Given the description of an element on the screen output the (x, y) to click on. 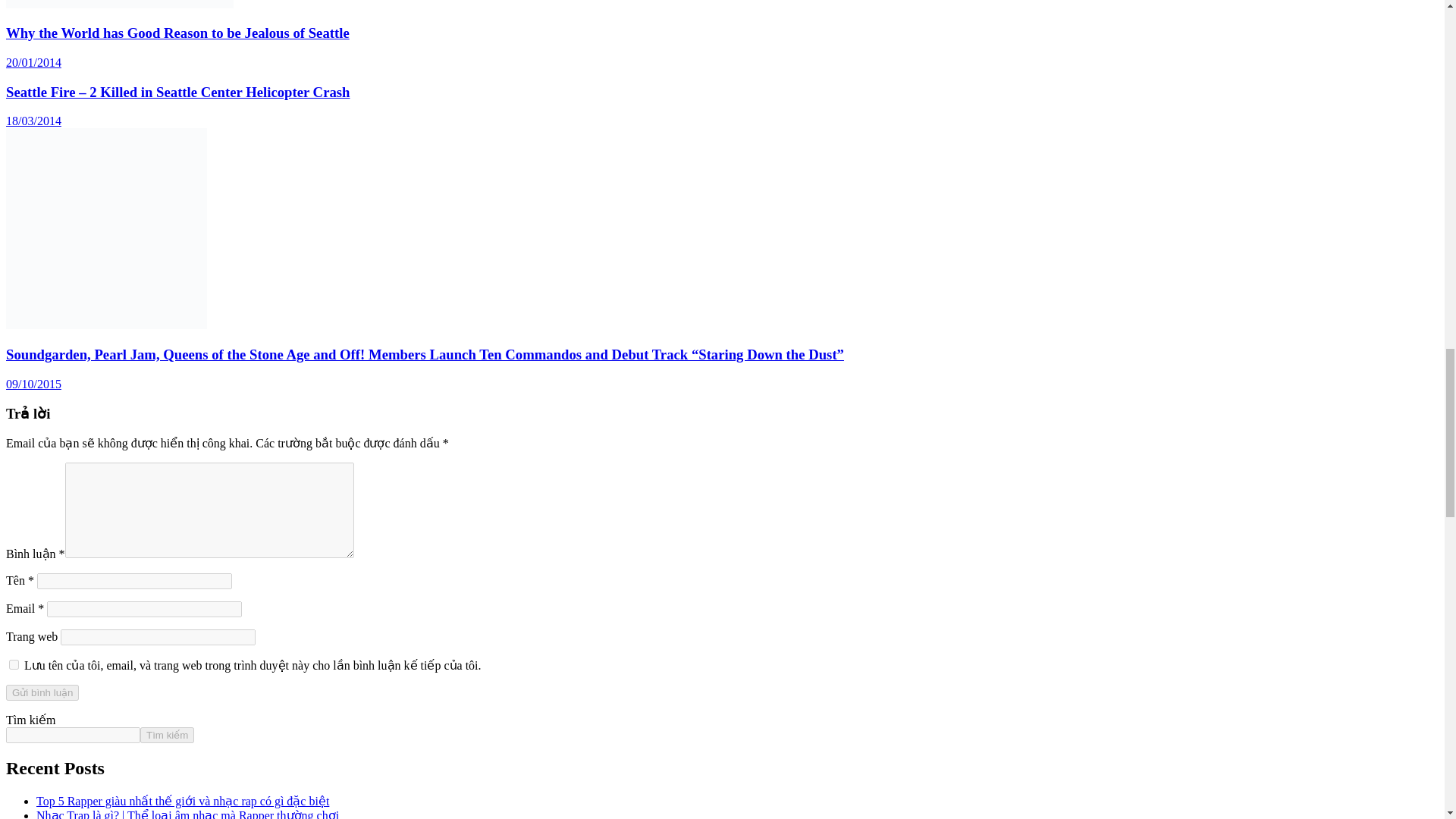
Why the World has Good Reason to be Jealous of Seattle (177, 32)
yes (13, 664)
Why the World has Good Reason to be Jealous of Seattle (177, 32)
